Given the description of an element on the screen output the (x, y) to click on. 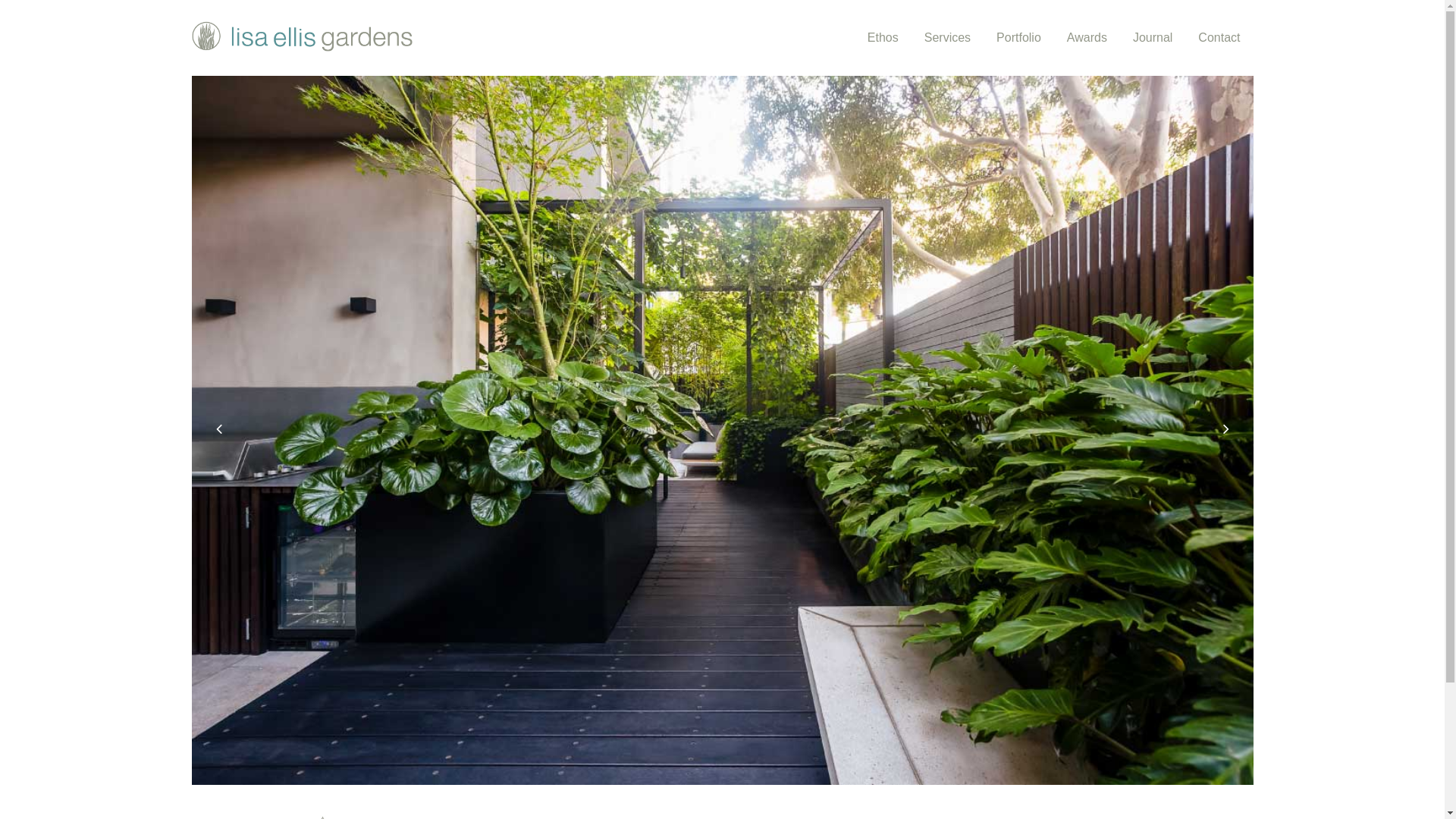
TheEasternTerrace-1 Element type: hover (721, 429)
Journal Element type: text (1152, 37)
Ethos Element type: text (882, 37)
Services Element type: text (947, 37)
Portfolio Element type: text (1018, 37)
Awards Element type: text (1087, 37)
Contact Element type: text (1218, 37)
